Given the description of an element on the screen output the (x, y) to click on. 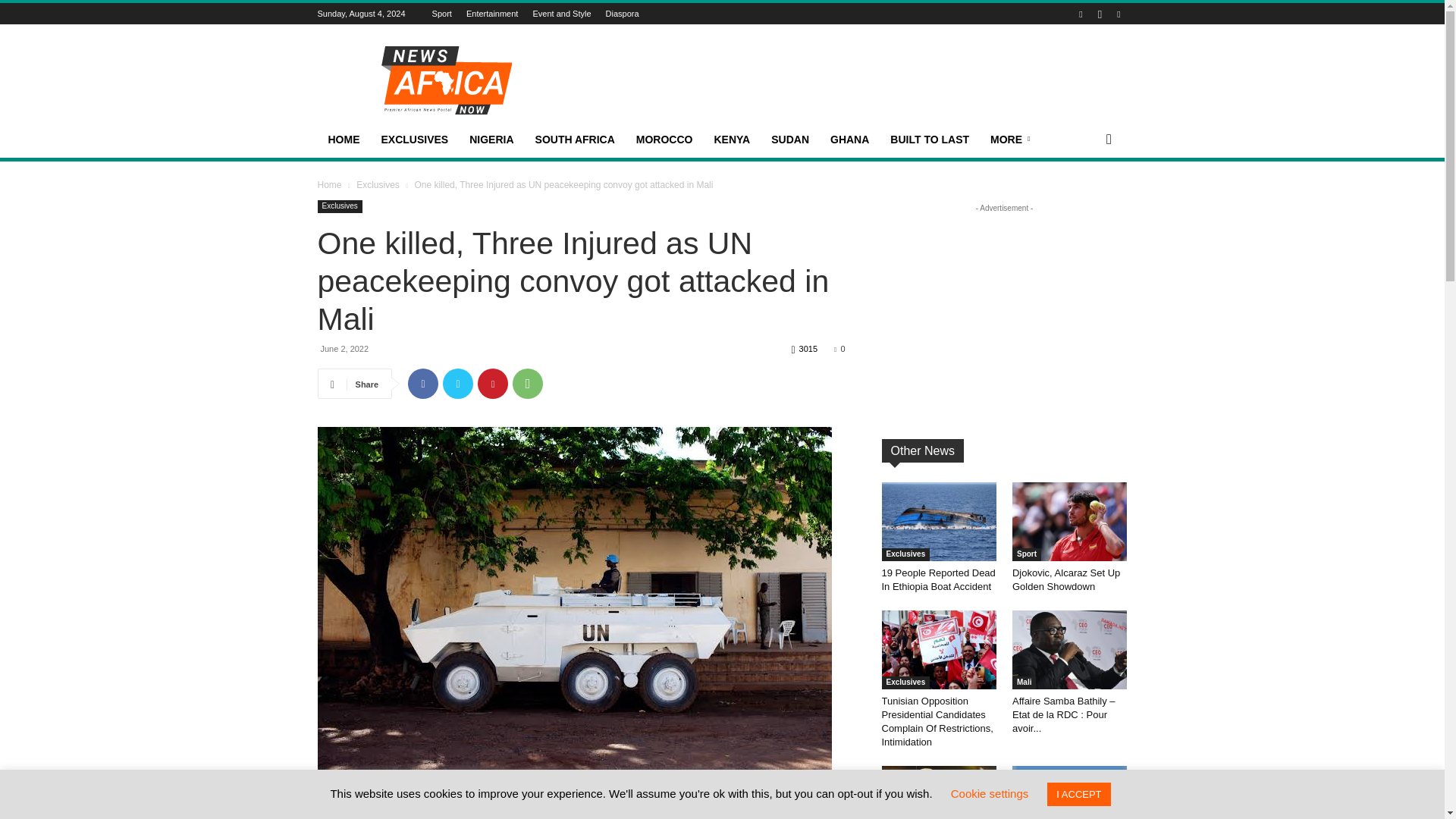
Twitter (457, 383)
Facebook (422, 383)
HOME (343, 139)
Diaspora (622, 13)
Entertainment (491, 13)
MOROCCO (664, 139)
WhatsApp (527, 383)
View all posts in Exclusives (377, 184)
EXCLUSIVES (413, 139)
Event and Style (561, 13)
Pinterest (492, 383)
Advertisement (850, 79)
SOUTH AFRICA (575, 139)
Sport (441, 13)
